Given the description of an element on the screen output the (x, y) to click on. 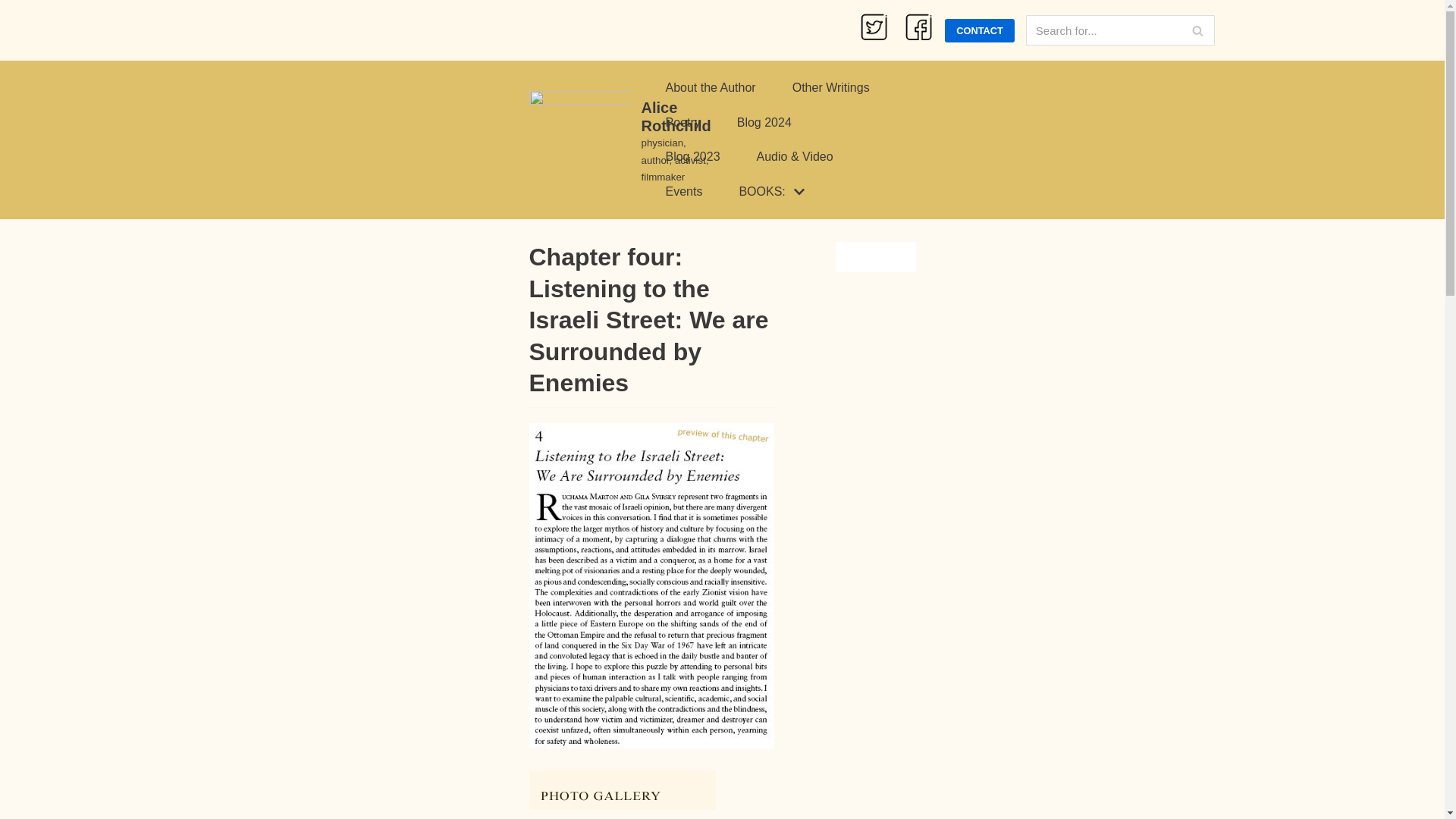
Events (683, 191)
Skip to content (15, 31)
About the Author (620, 142)
Blog 2023 (710, 87)
BOOKS: (692, 157)
Blog 2024 (773, 191)
Search (764, 122)
Search (1197, 30)
Poetry (1197, 30)
Other Writings (682, 122)
Search (830, 87)
CONTACT (1197, 30)
Alice Rothchild (979, 29)
